Given the description of an element on the screen output the (x, y) to click on. 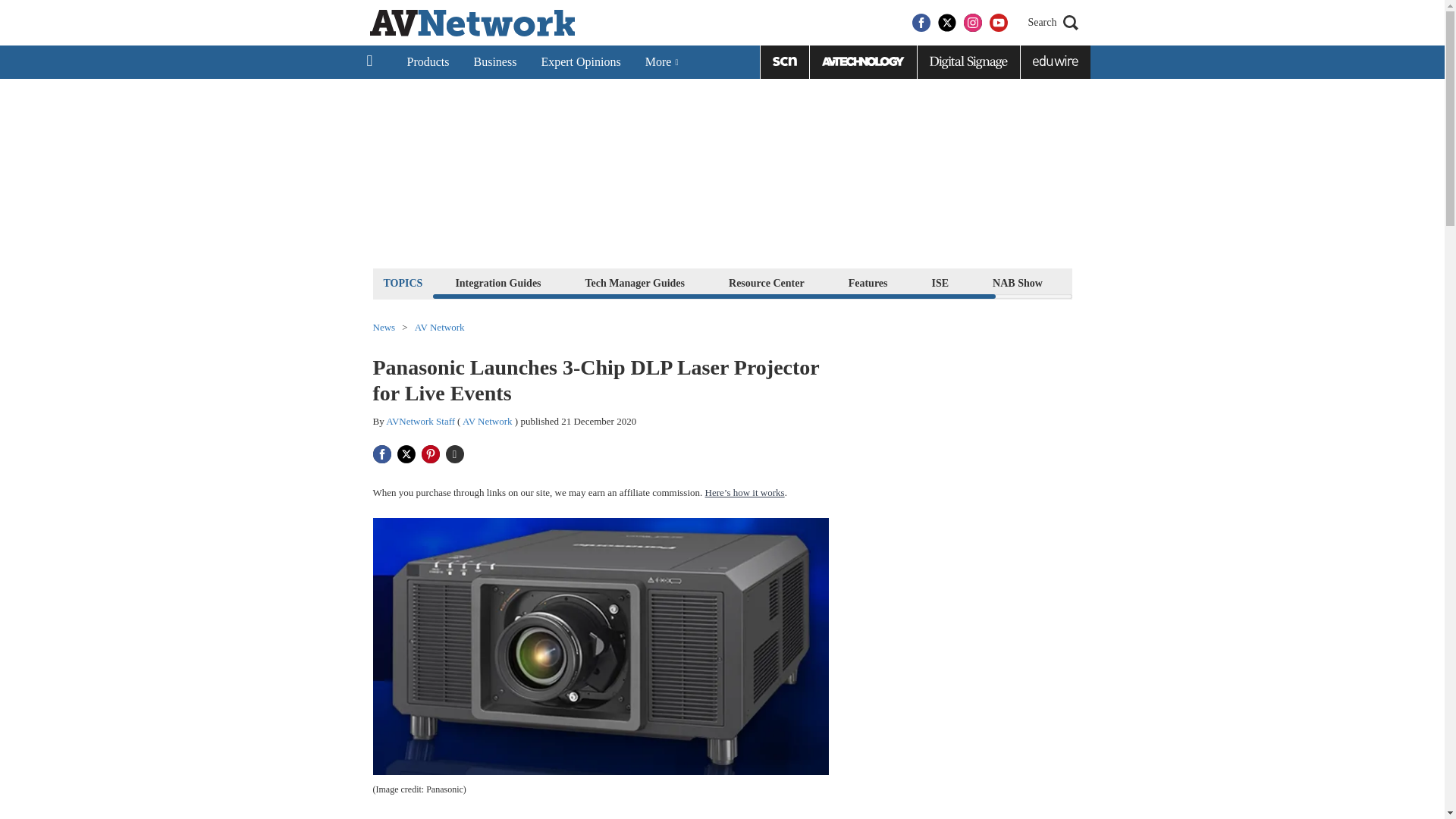
Features (868, 282)
InfoComm (1111, 282)
Resource Center (766, 282)
Integration Guides (497, 282)
Products (427, 61)
NAB Show (1017, 282)
ISE (940, 282)
AVNetwork Staff (419, 420)
Expert Opinions (579, 61)
AV Network (487, 420)
